Given the description of an element on the screen output the (x, y) to click on. 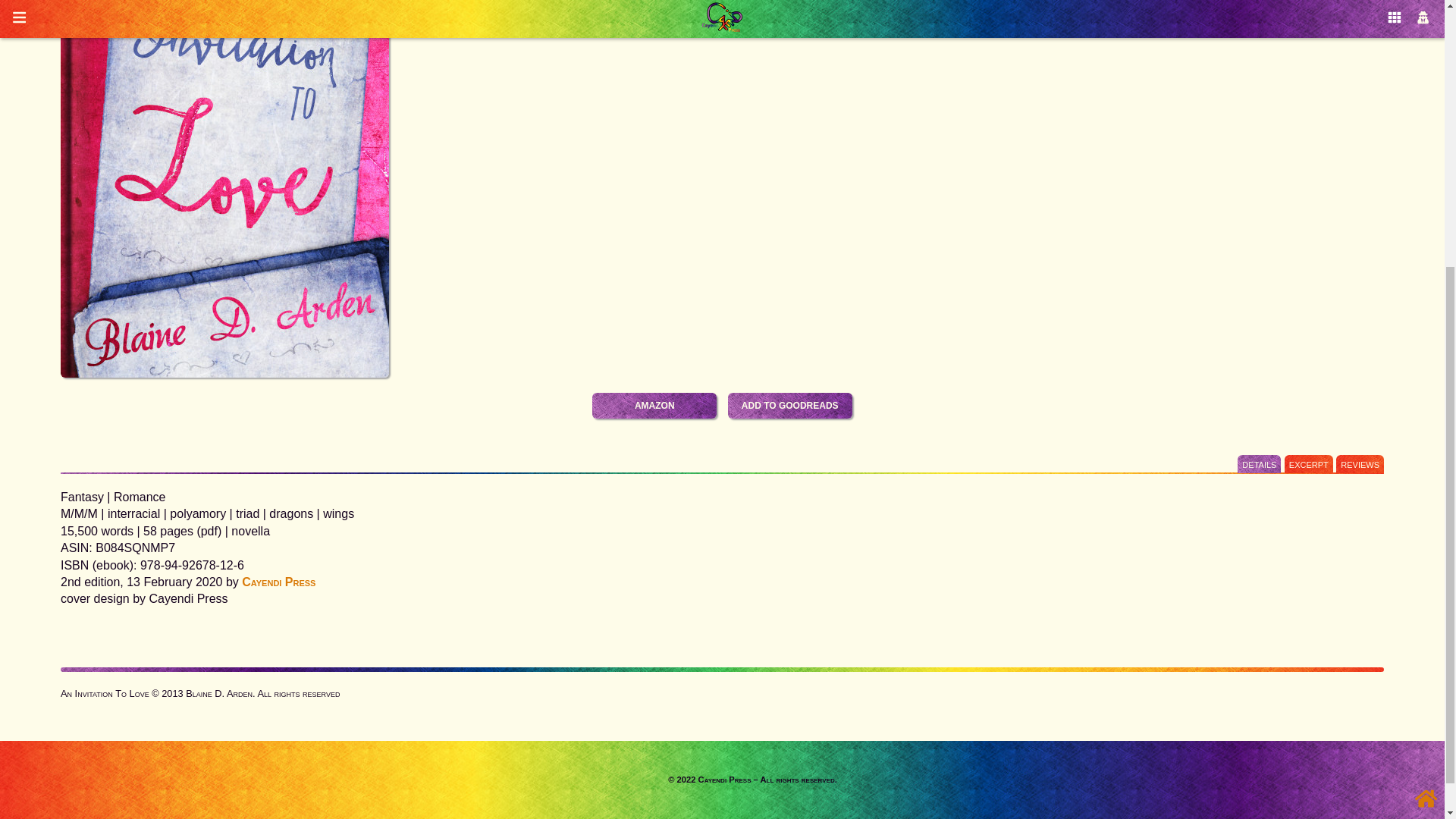
Go to home page (1426, 392)
Excerpt (1308, 464)
AMAZON (654, 405)
Cayendi Press (278, 581)
ADD TO GOODREADS (789, 405)
Details (1259, 464)
Reviews (1360, 464)
